Given the description of an element on the screen output the (x, y) to click on. 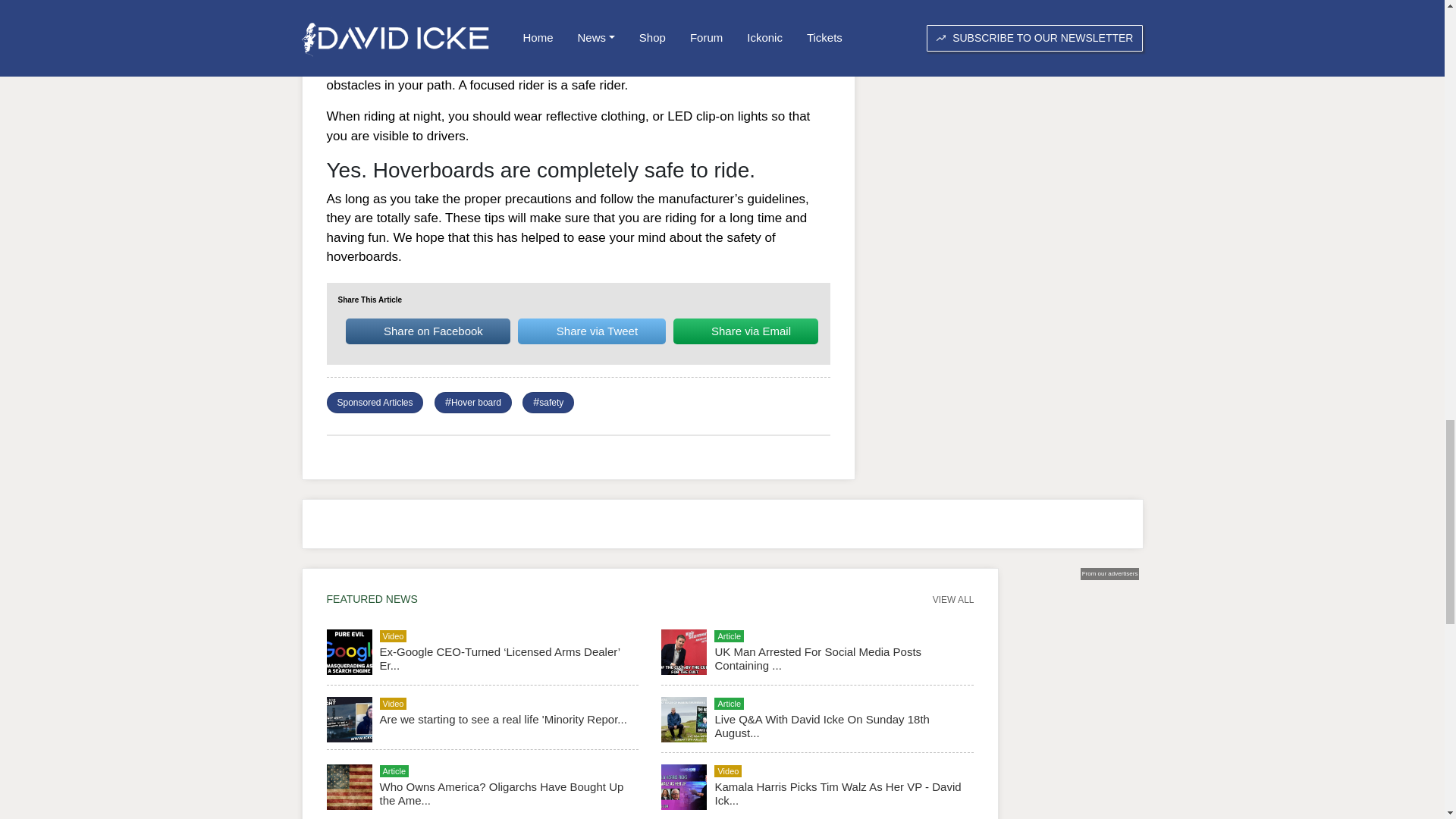
Sponsored Articles (374, 402)
safety (550, 402)
Share via Tweet (591, 330)
Share on Facebook (428, 330)
Hover board (475, 402)
Share via Email (745, 330)
